Given the description of an element on the screen output the (x, y) to click on. 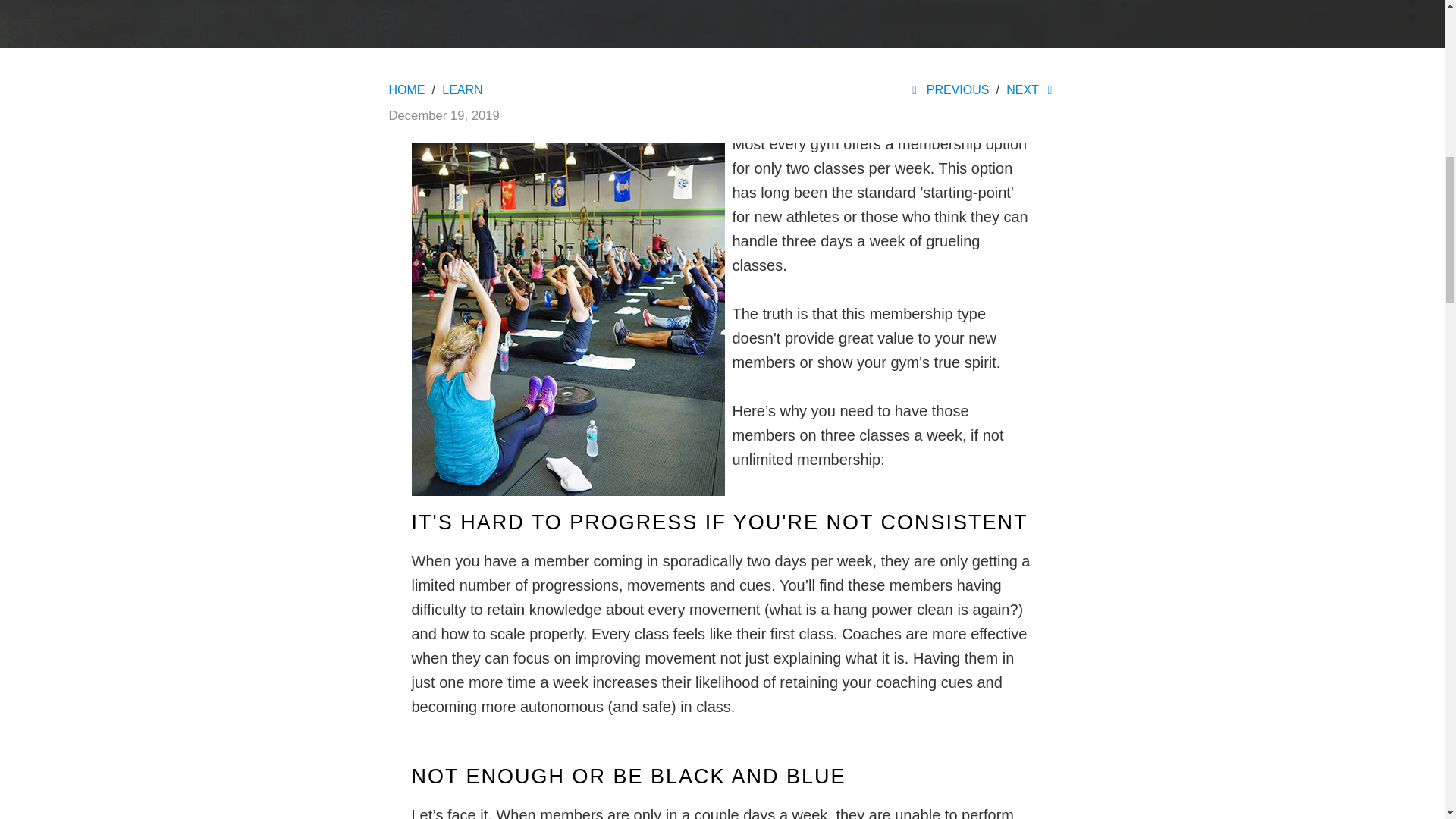
Affiliate Supplements (406, 89)
Learn (461, 89)
